Given the description of an element on the screen output the (x, y) to click on. 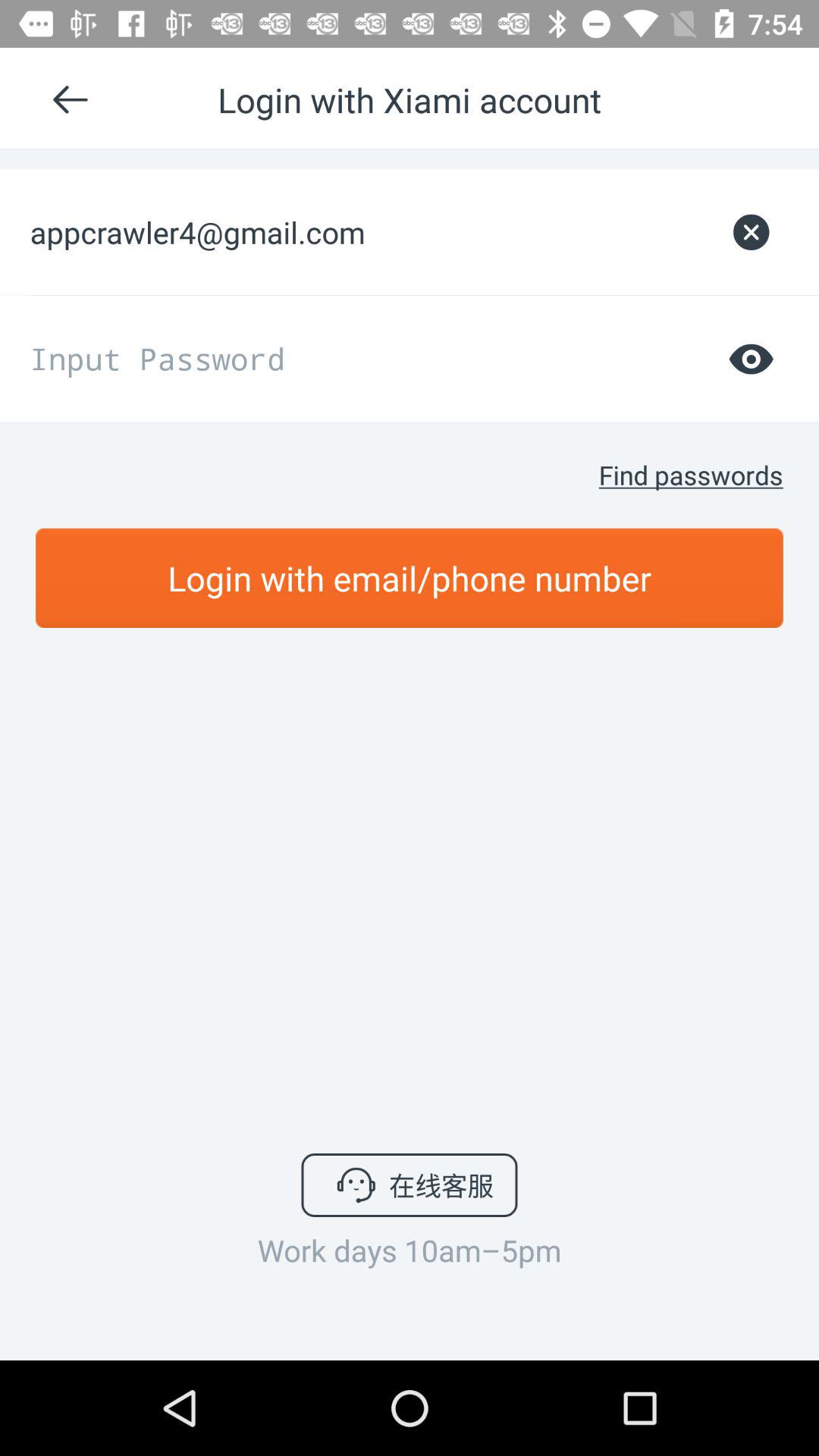
flip until the appcrawler4@gmail.com icon (370, 232)
